Given the description of an element on the screen output the (x, y) to click on. 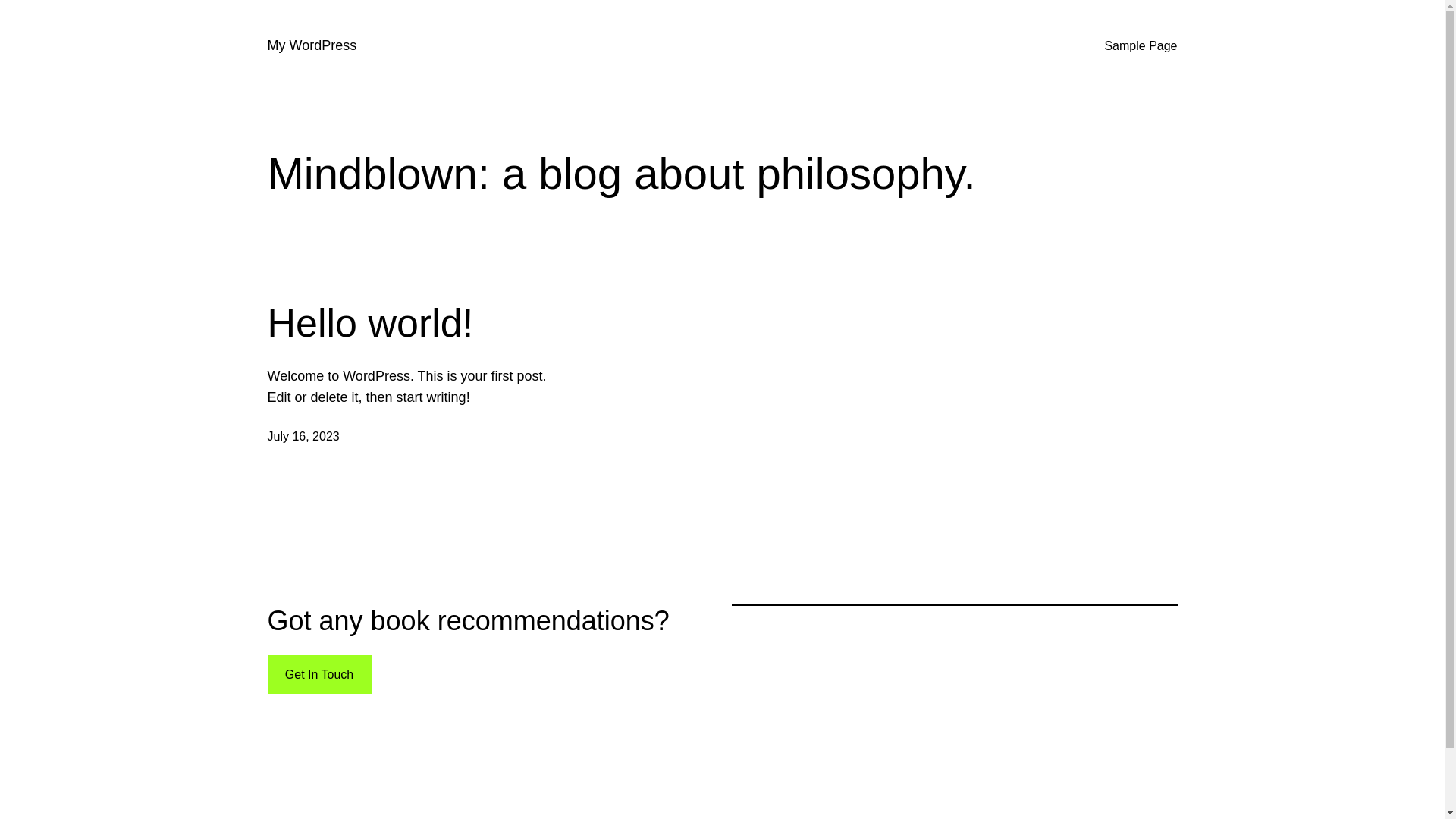
July 16, 2023 Element type: text (302, 435)
My WordPress Element type: text (311, 45)
Sample Page Element type: text (1140, 46)
Get In Touch Element type: text (318, 674)
Hello world! Element type: text (369, 322)
